Given the description of an element on the screen output the (x, y) to click on. 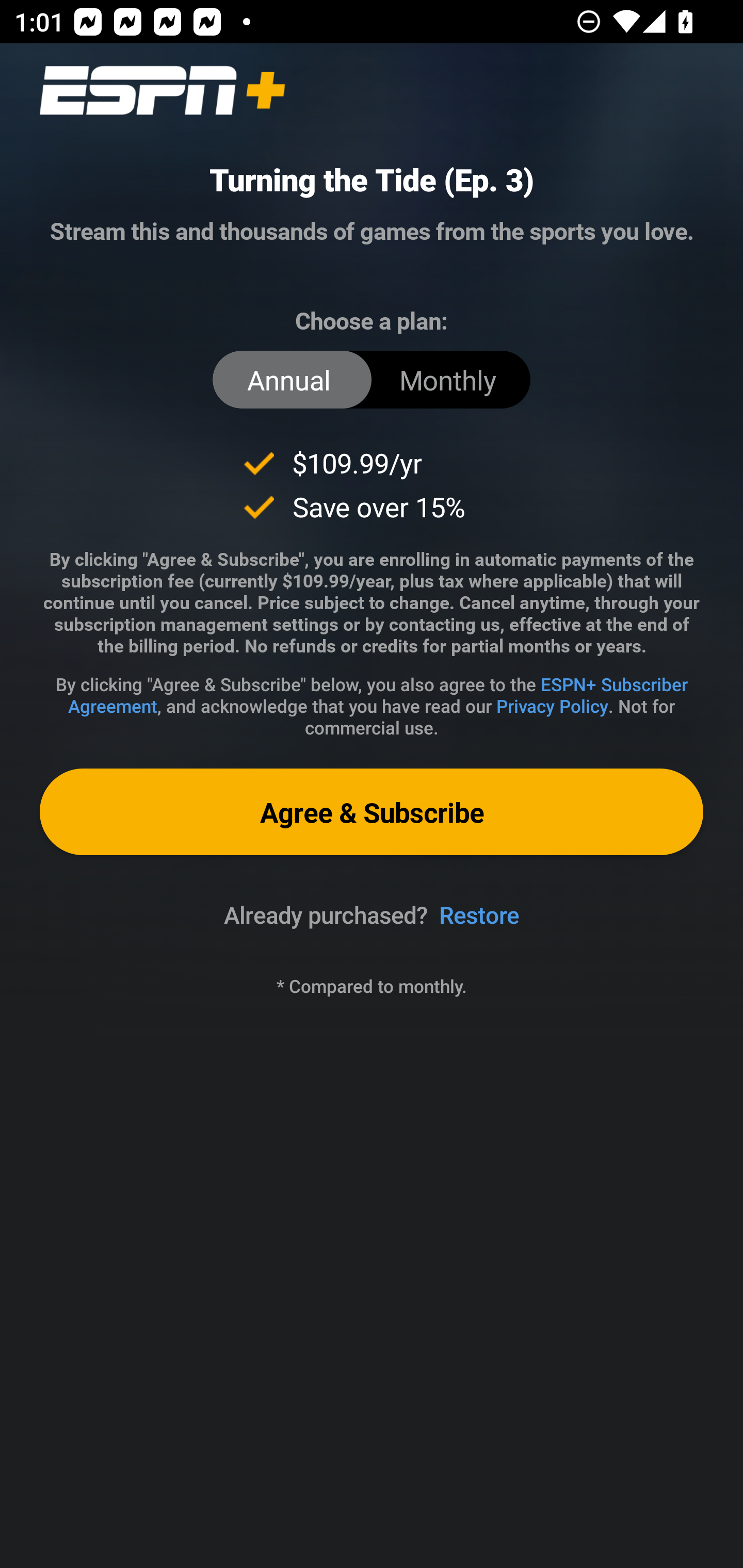
Agree & Subscribe (371, 811)
